Given the description of an element on the screen output the (x, y) to click on. 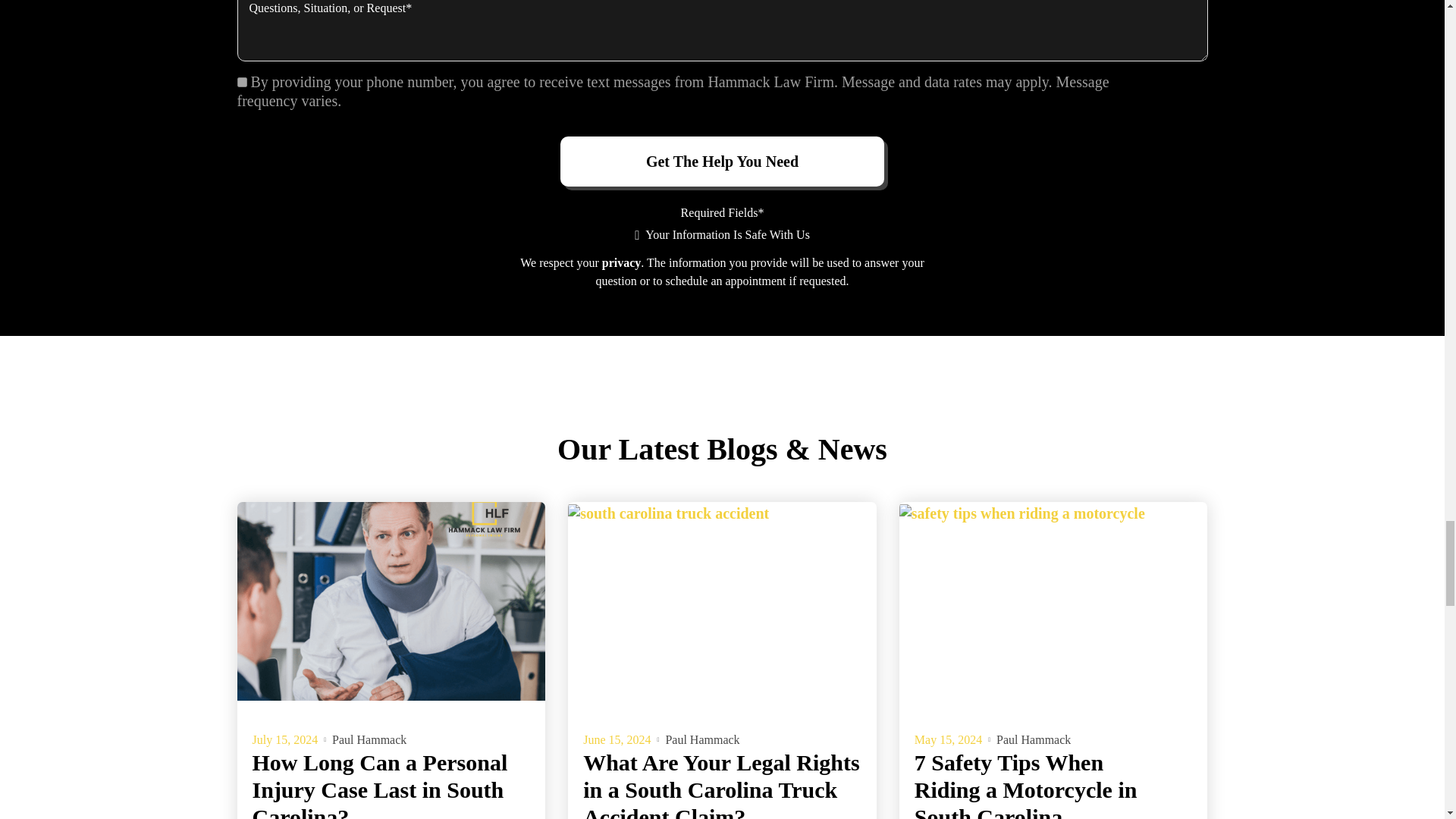
How Long Can a Personal Injury Case Last in South Carolina? (391, 601)
How Long Can a Personal Injury Case Last in South Carolina? (379, 784)
7 Safety Tips When Riding a Motorcycle in South Carolina (1053, 601)
7 Safety Tips When Riding a Motorcycle in South Carolina (1025, 784)
